Given the description of an element on the screen output the (x, y) to click on. 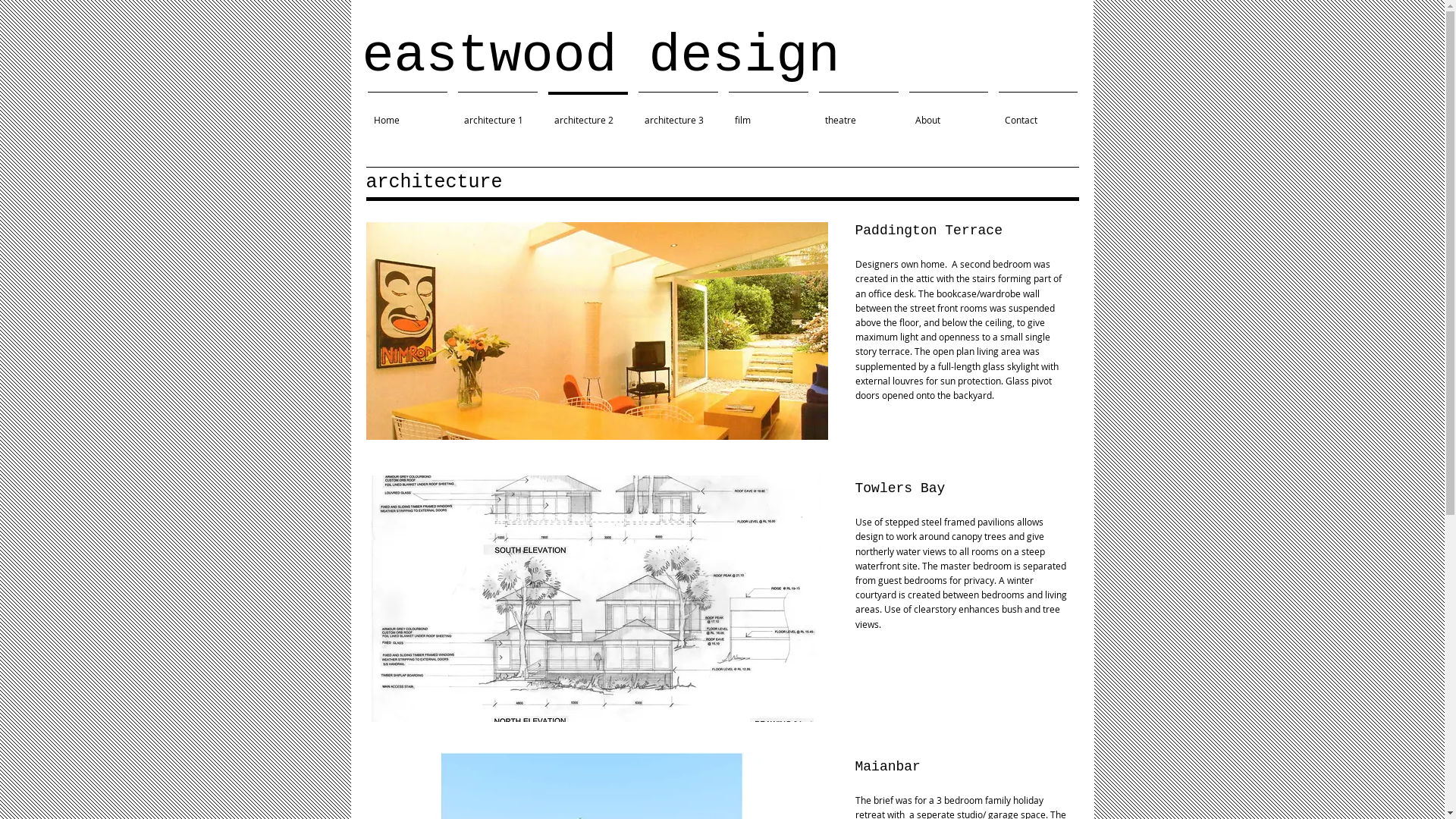
architecture 1 Element type: text (496, 112)
Contact Element type: text (1037, 112)
Home Element type: text (407, 112)
film Element type: text (768, 112)
About Element type: text (948, 112)
architecture 2 Element type: text (587, 112)
architecture 3 Element type: text (677, 112)
eastwood design Element type: text (601, 56)
theatre Element type: text (857, 112)
